Given the description of an element on the screen output the (x, y) to click on. 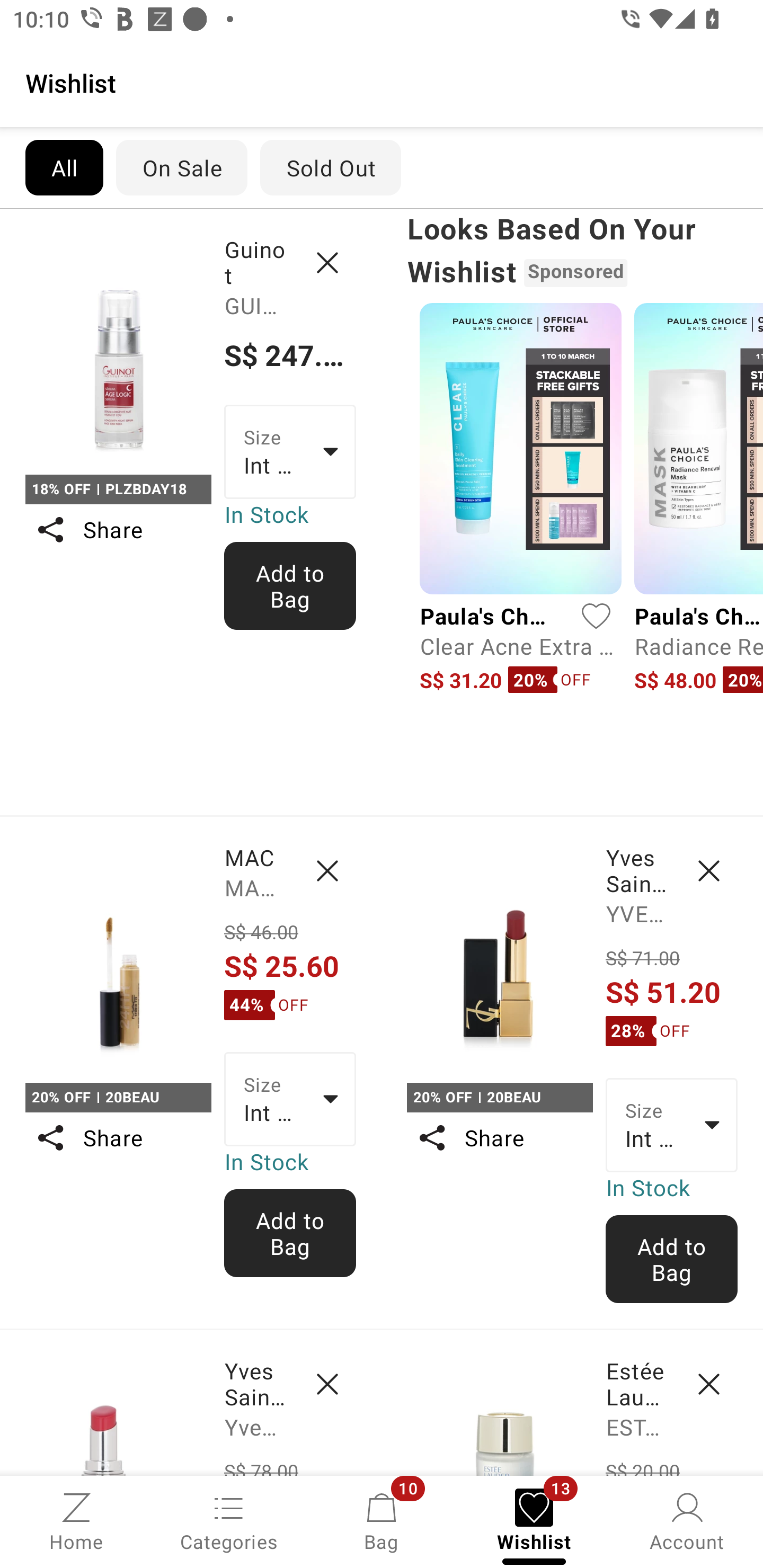
Wishlist (381, 82)
All (64, 167)
On Sale (181, 167)
Sold Out (330, 167)
Size Int One Size (290, 451)
Share (118, 529)
Add to Bag (290, 586)
Size Int One Size (290, 1099)
Size Int One Size (671, 1125)
Share (118, 1137)
Share (499, 1137)
Add to Bag (290, 1232)
Add to Bag (671, 1259)
Home (76, 1519)
Categories (228, 1519)
Bag, 10 new notifications Bag (381, 1519)
Account (686, 1519)
